Given the description of an element on the screen output the (x, y) to click on. 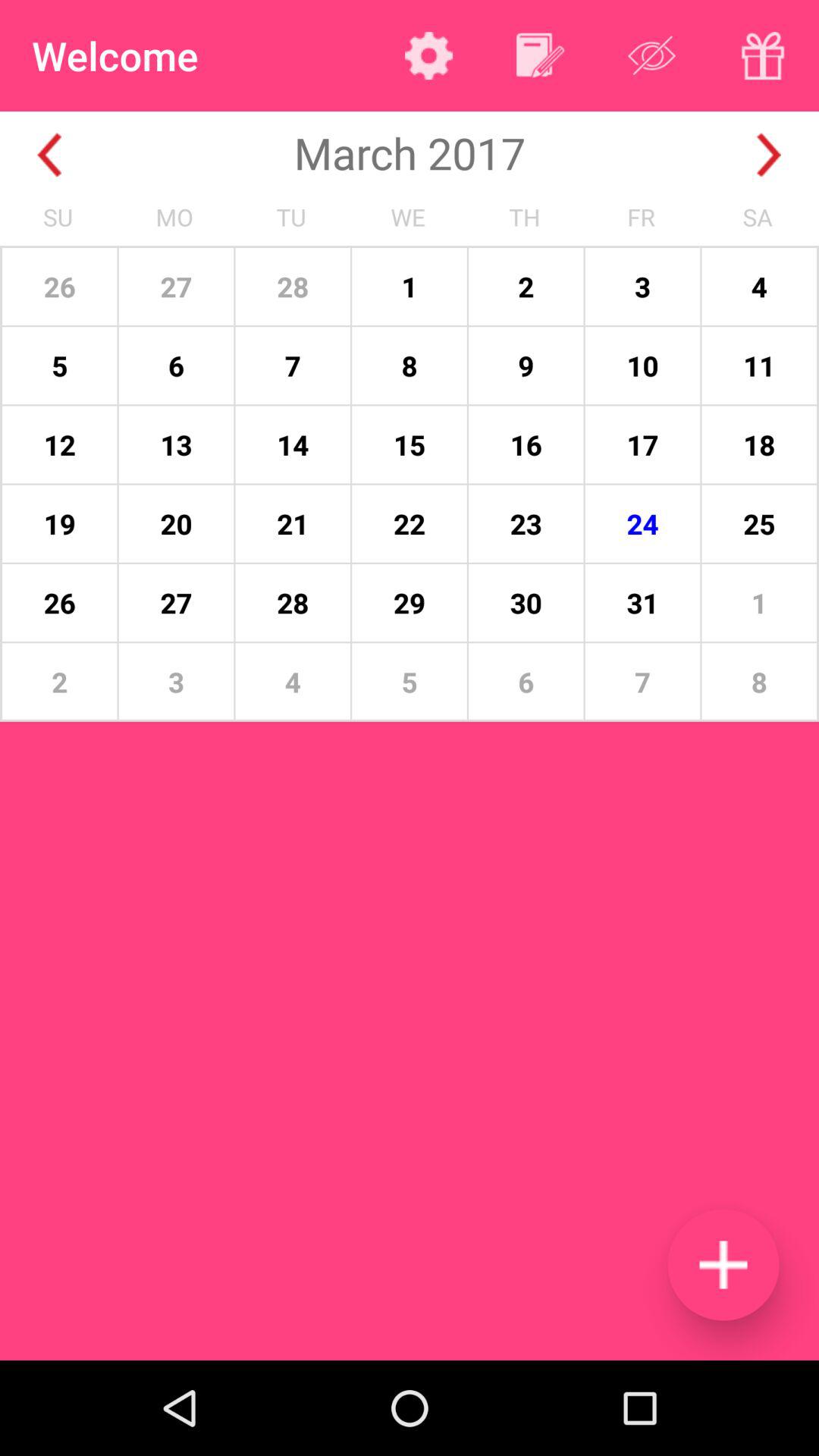
open the march 2017 icon (409, 152)
